Given the description of an element on the screen output the (x, y) to click on. 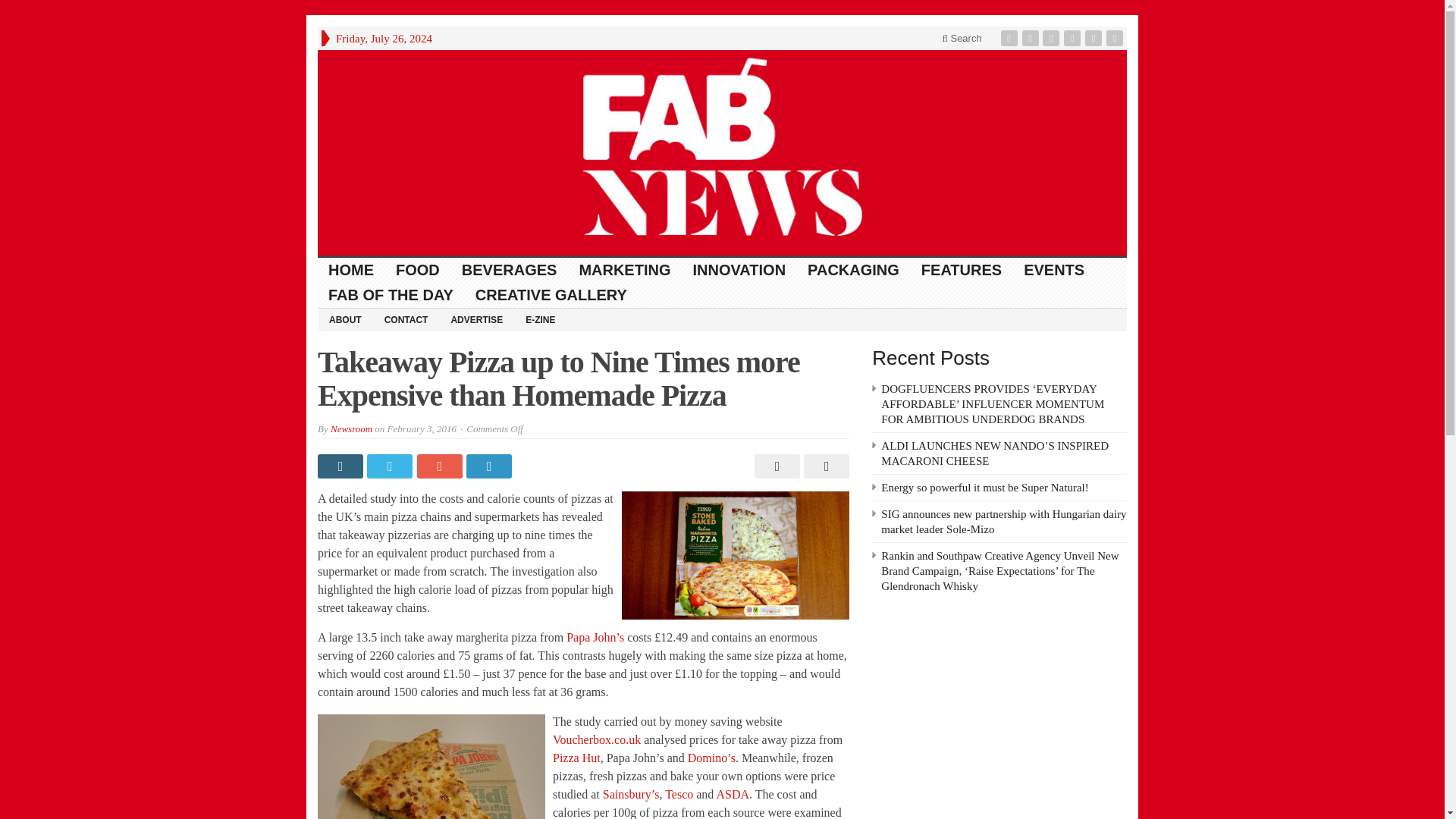
Facebook (1011, 37)
Send by Email (823, 466)
FEATURES (962, 269)
FOOD (418, 269)
FAB OF THE DAY (390, 294)
Share on LinkedIn (490, 466)
Newsroom (351, 428)
Share on Twitter (391, 466)
CONTACT (405, 319)
Share on Facebook (341, 466)
E-ZINE (539, 319)
ABOUT (344, 319)
Search (962, 37)
Site feed (1115, 37)
Twitter (1032, 37)
